Given the description of an element on the screen output the (x, y) to click on. 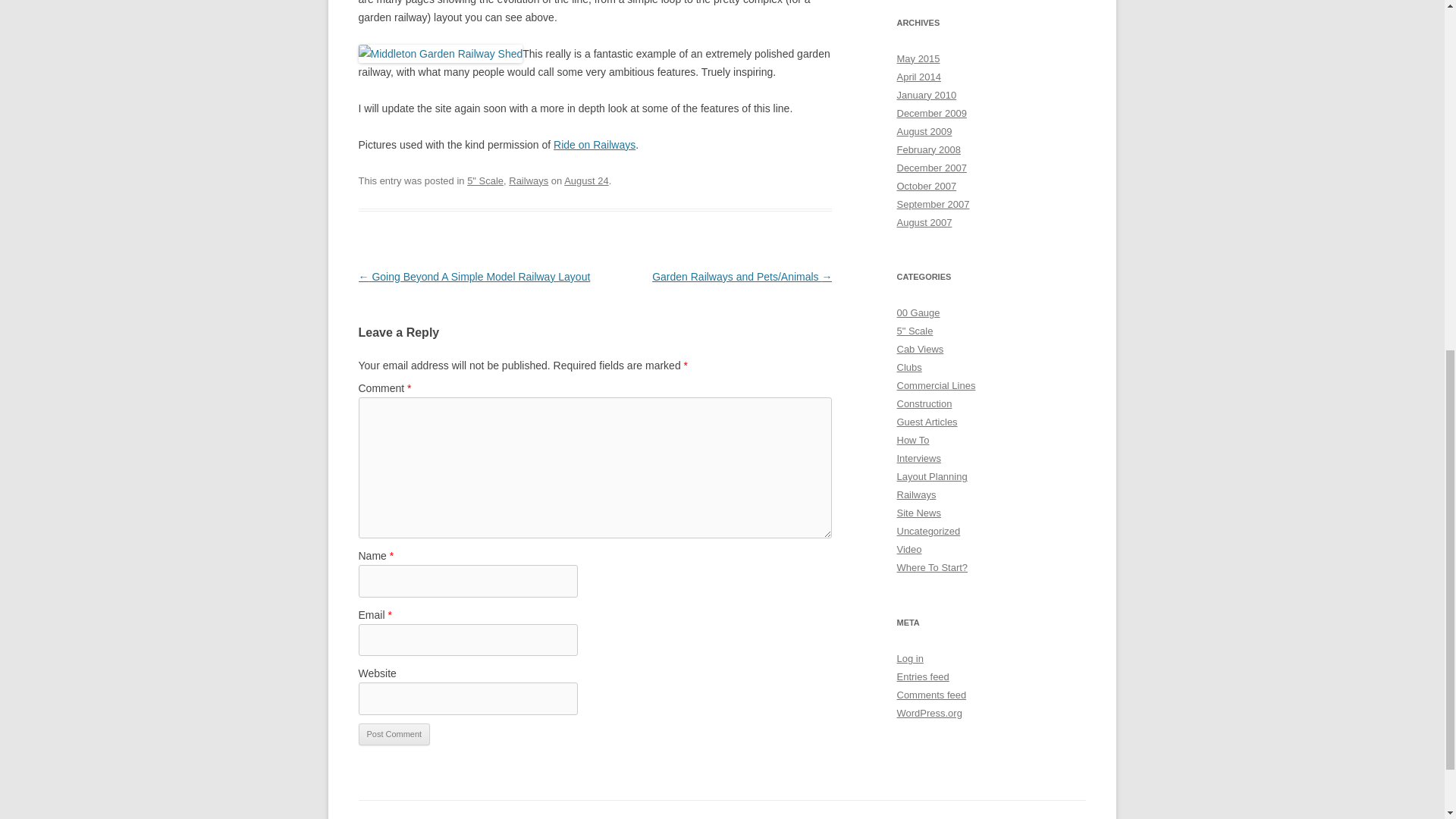
September 2007 (932, 204)
December 2009 (931, 112)
5" Scale (485, 180)
Post Comment (393, 734)
December 2007 (931, 167)
10:14 am (586, 180)
May 2015 (917, 58)
April 2014 (918, 76)
August 2007 (924, 221)
Post Comment (393, 734)
